Given the description of an element on the screen output the (x, y) to click on. 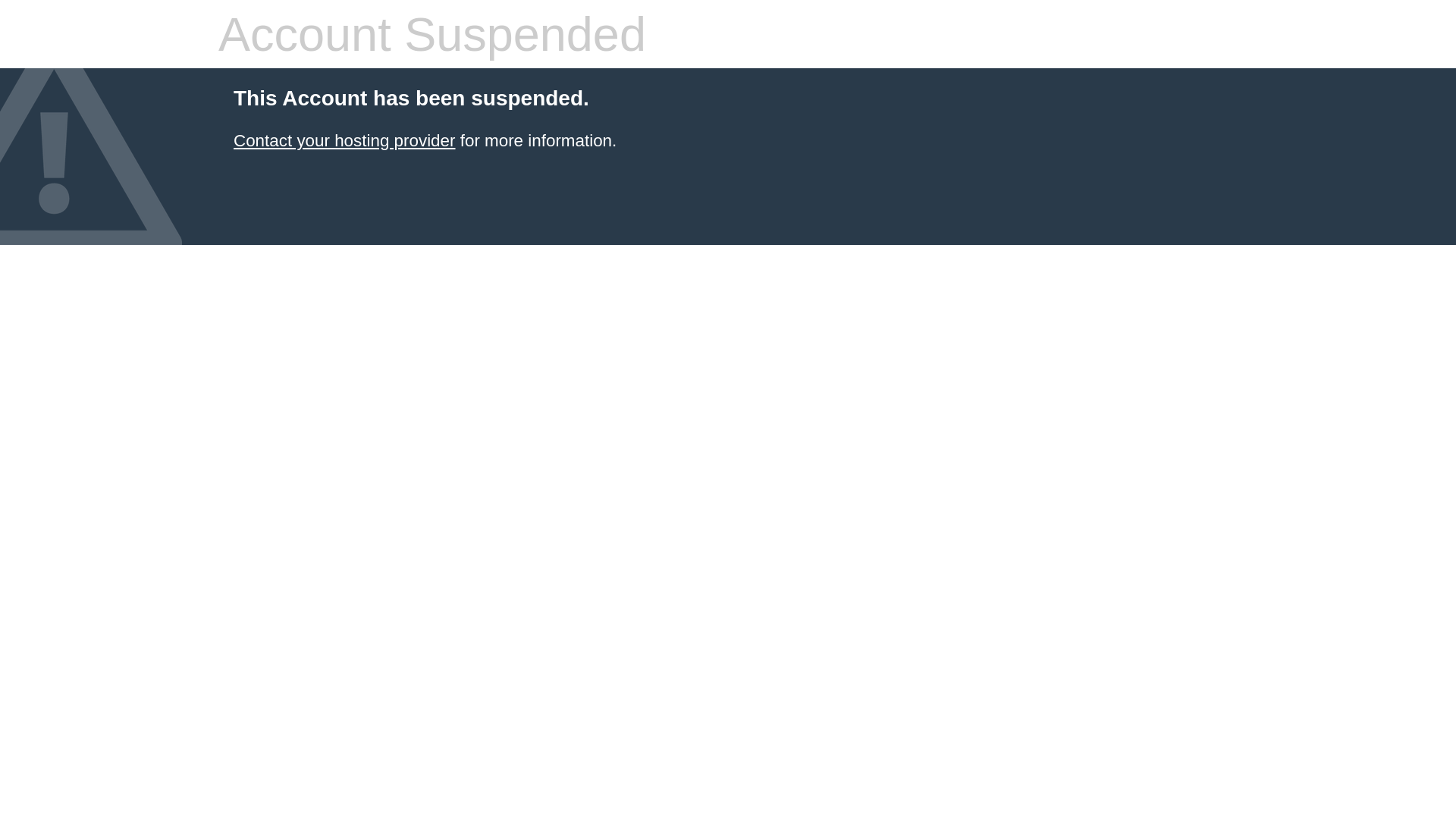
Contact your hosting provider Element type: text (344, 140)
